Given the description of an element on the screen output the (x, y) to click on. 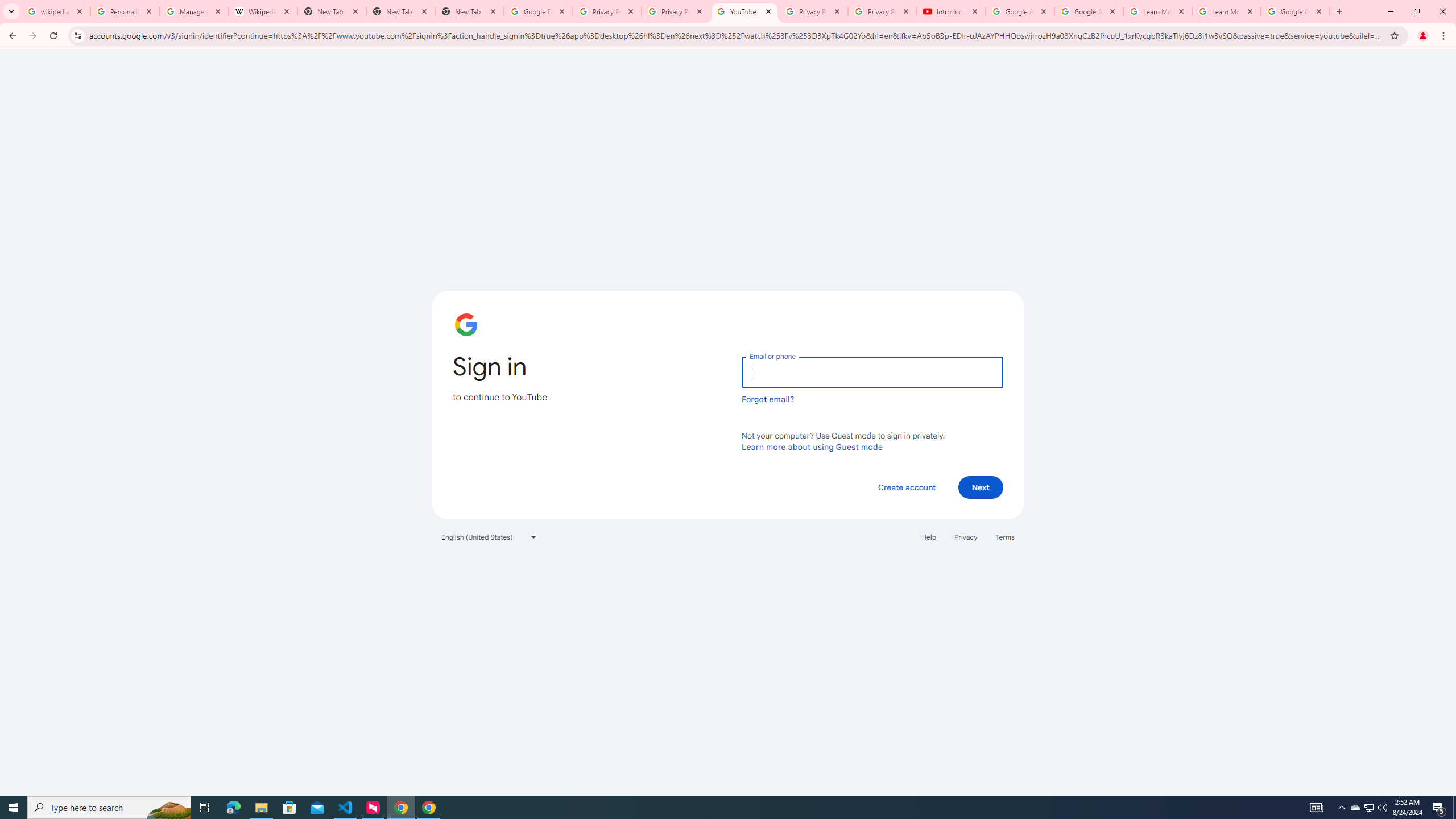
YouTube (744, 11)
New Tab (400, 11)
Wikipedia:Edit requests - Wikipedia (263, 11)
Introduction | Google Privacy Policy - YouTube (950, 11)
